Given the description of an element on the screen output the (x, y) to click on. 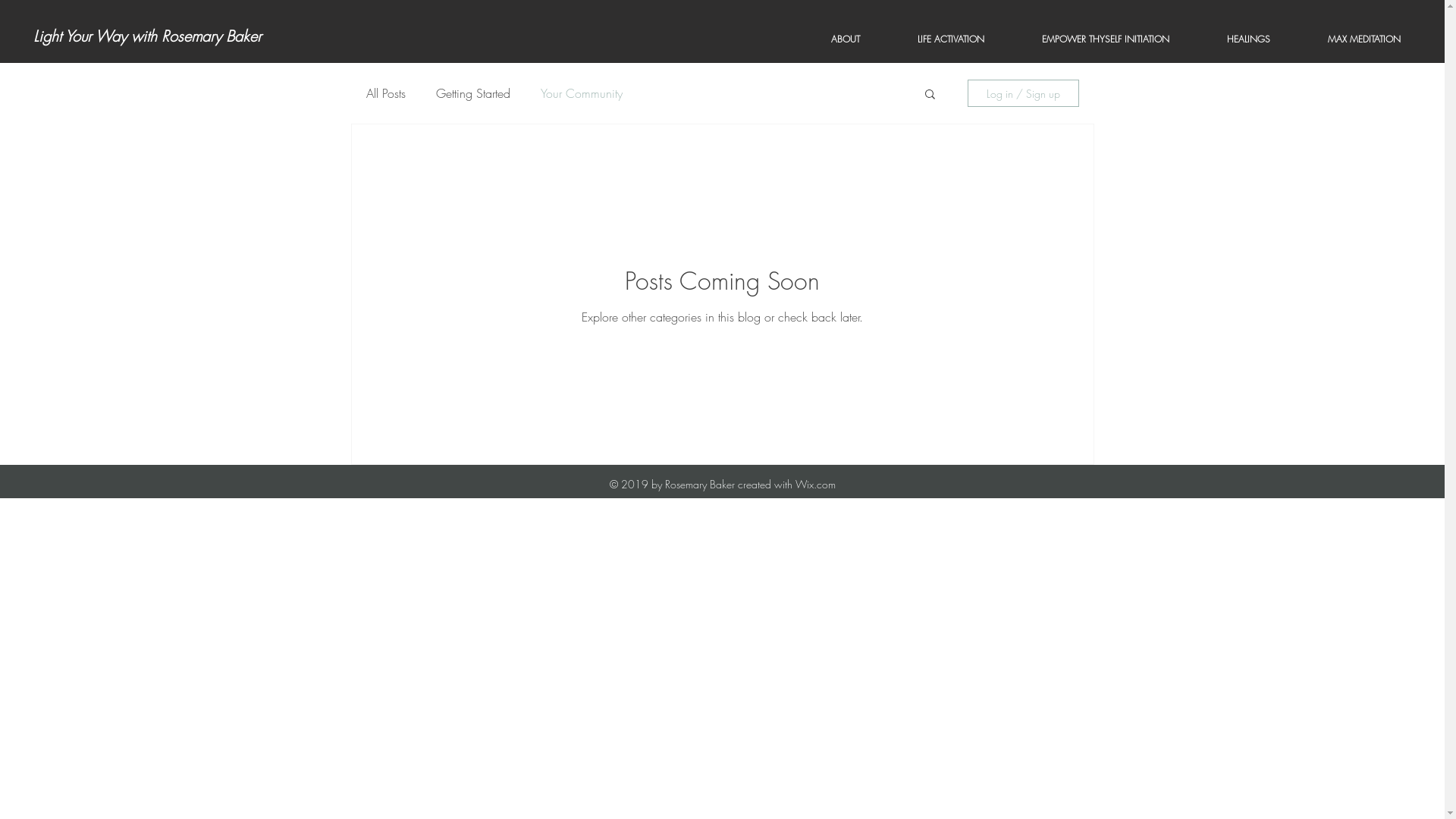
LIFE ACTIVATION Element type: text (950, 38)
MAX MEDITATION Element type: text (1364, 38)
HEALINGS Element type: text (1248, 38)
ABOUT Element type: text (844, 38)
 created with Wix.com Element type: text (784, 483)
Light Your Way with Rosemary Baker Element type: text (147, 36)
EMPOWER THYSELF INITIATION Element type: text (1105, 38)
Log in / Sign up Element type: text (1023, 92)
